Given the description of an element on the screen output the (x, y) to click on. 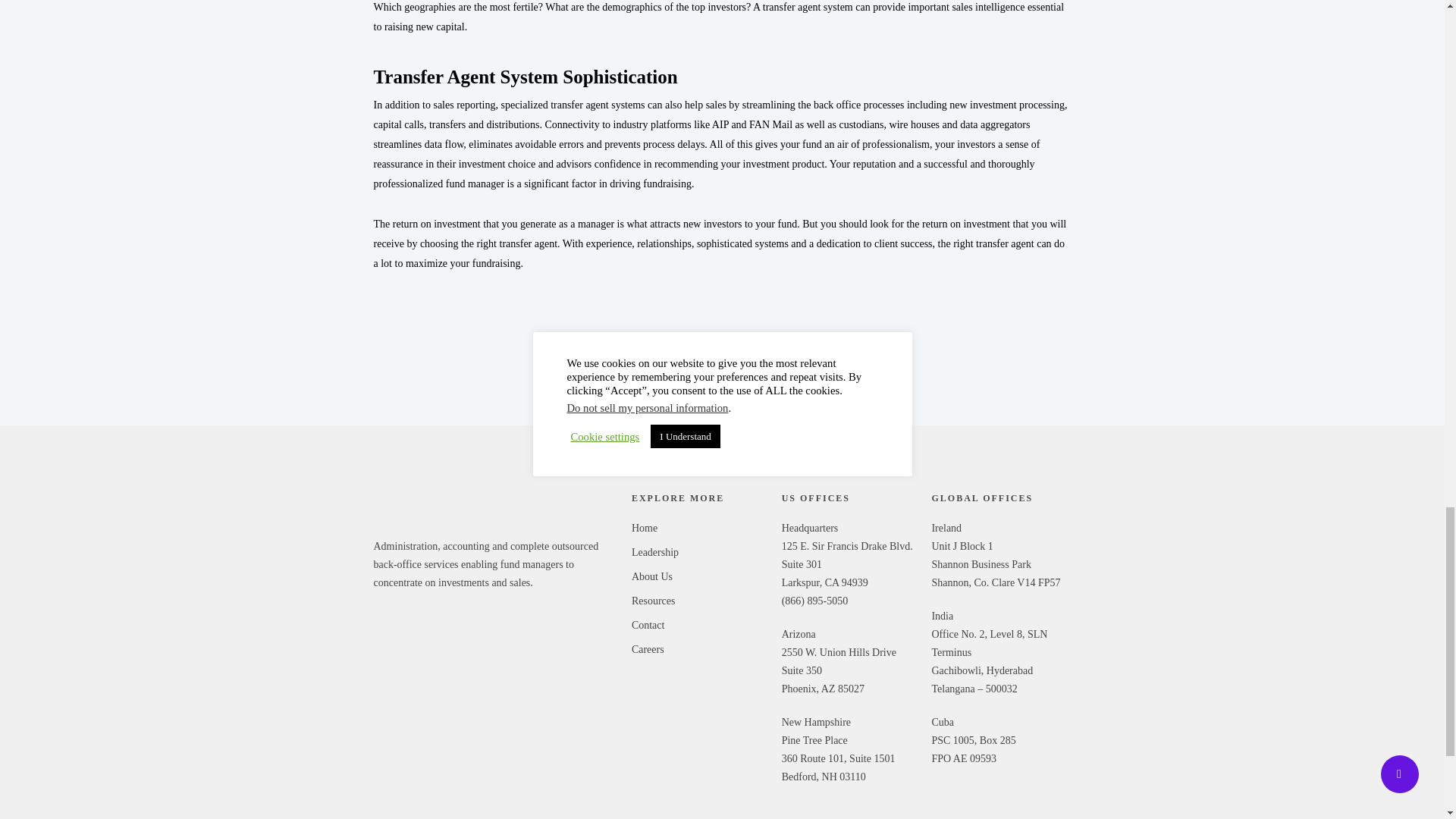
Leadership (699, 552)
Contact (699, 625)
Careers (699, 649)
Resources (699, 601)
Home (699, 528)
About Us (699, 577)
